Given the description of an element on the screen output the (x, y) to click on. 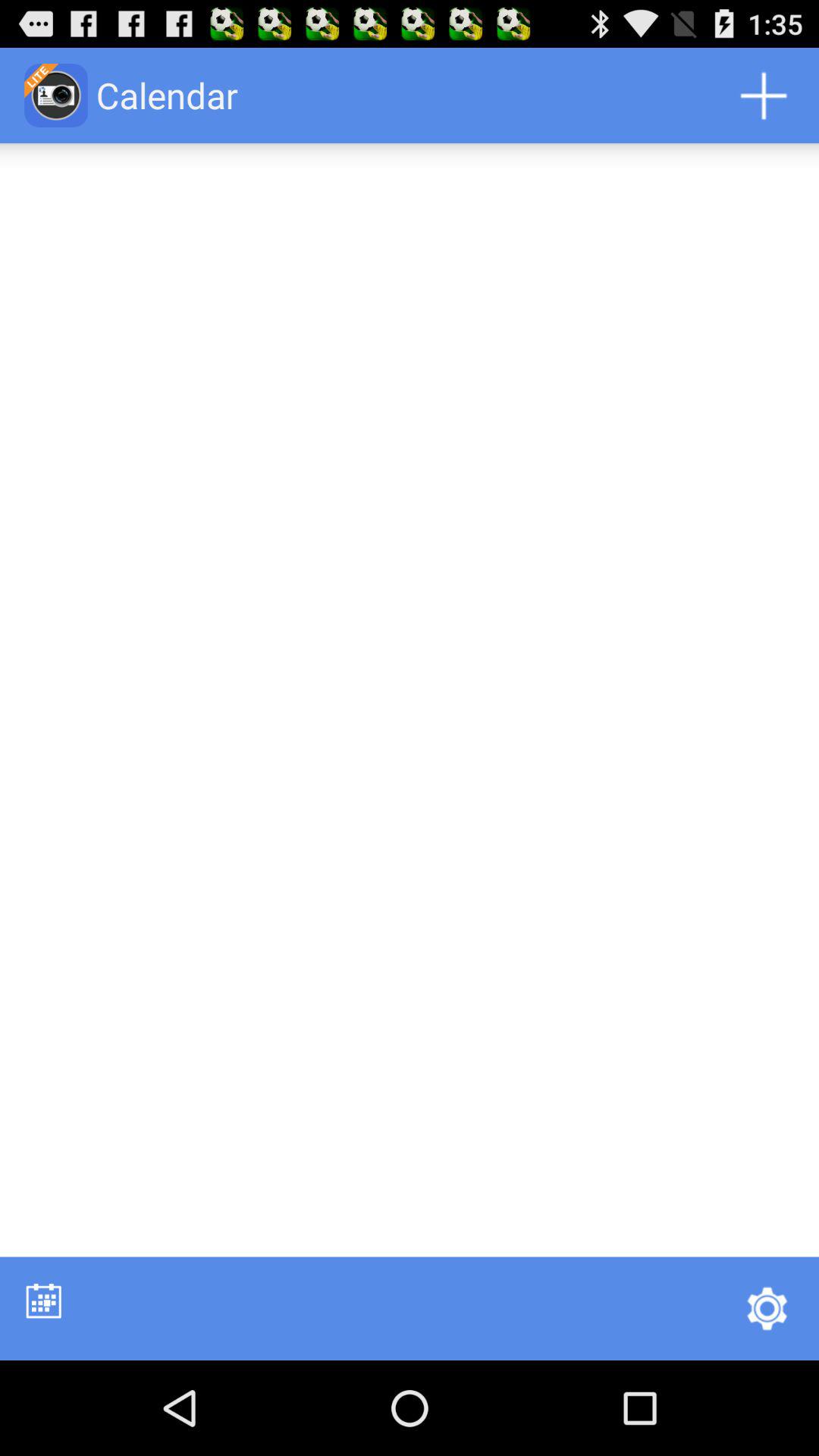
turn on app next to calendar icon (763, 95)
